Given the description of an element on the screen output the (x, y) to click on. 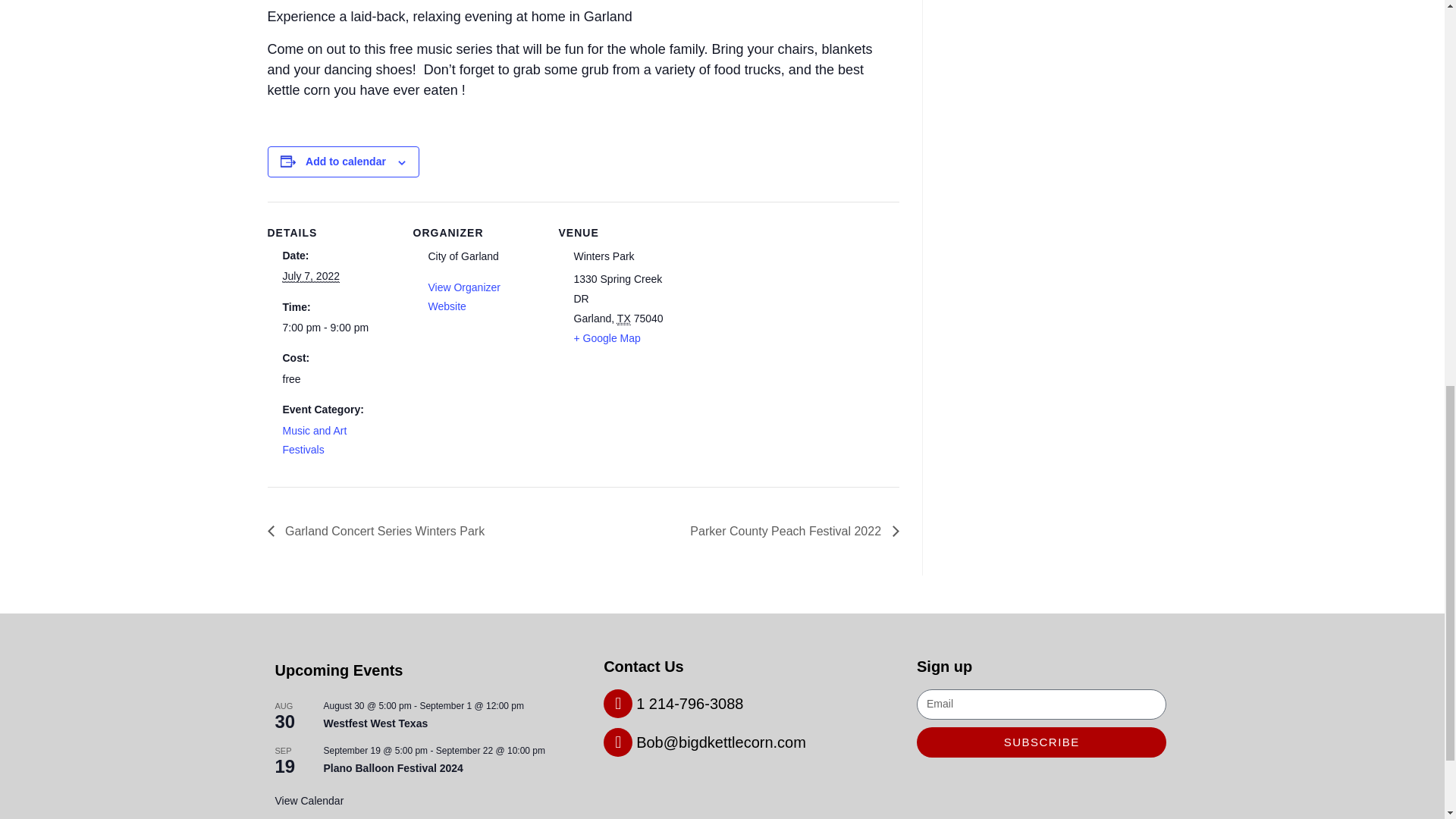
Plano Balloon Festival 2024 (393, 768)
View more events. (309, 800)
Westfest West Texas (375, 723)
2022-07-07 (310, 276)
SUBSCRIBE (1041, 741)
2022-07-07 (330, 327)
Garland Concert Series Winters Park (379, 530)
Music and Art Festivals (314, 440)
View Organizer Website (463, 296)
Plano Balloon Festival 2024 (393, 768)
Parker County Peach Festival 2022 (789, 530)
Westfest West Texas (375, 723)
View Calendar (309, 800)
Click to view a Google Map (606, 337)
Add to calendar (345, 161)
